Given the description of an element on the screen output the (x, y) to click on. 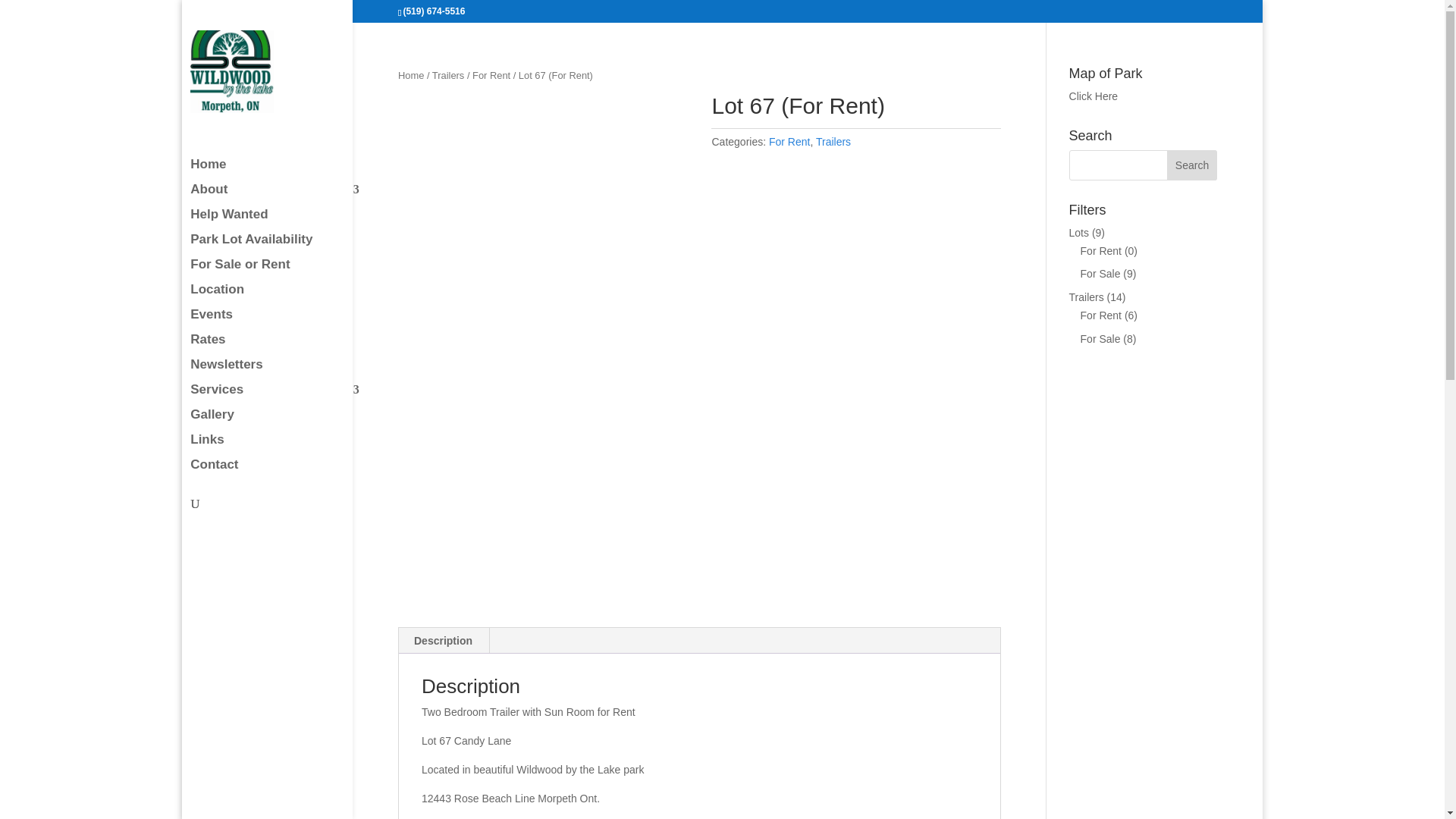
Contact (282, 471)
Description (443, 640)
Help Wanted (282, 221)
Home (282, 171)
Newsletters (282, 371)
Links (282, 446)
Trailers (832, 141)
Search (1192, 164)
Rates (282, 346)
For Sale or Rent (282, 271)
